Given the description of an element on the screen output the (x, y) to click on. 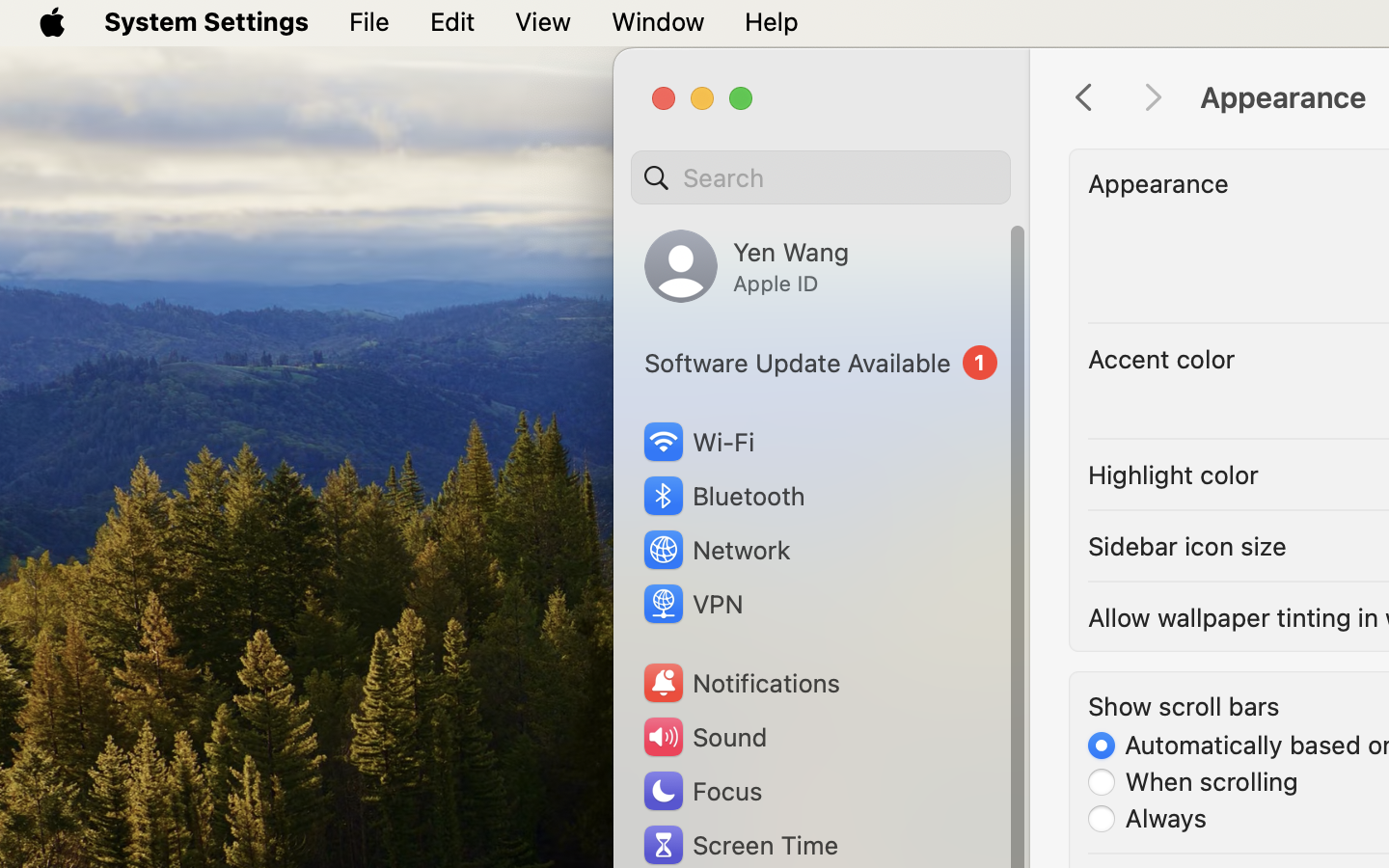
Focus Element type: AXStaticText (701, 790)
VPN Element type: AXStaticText (691, 603)
Screen Time Element type: AXStaticText (739, 844)
Sidebar icon size Element type: AXStaticText (1187, 545)
